Given the description of an element on the screen output the (x, y) to click on. 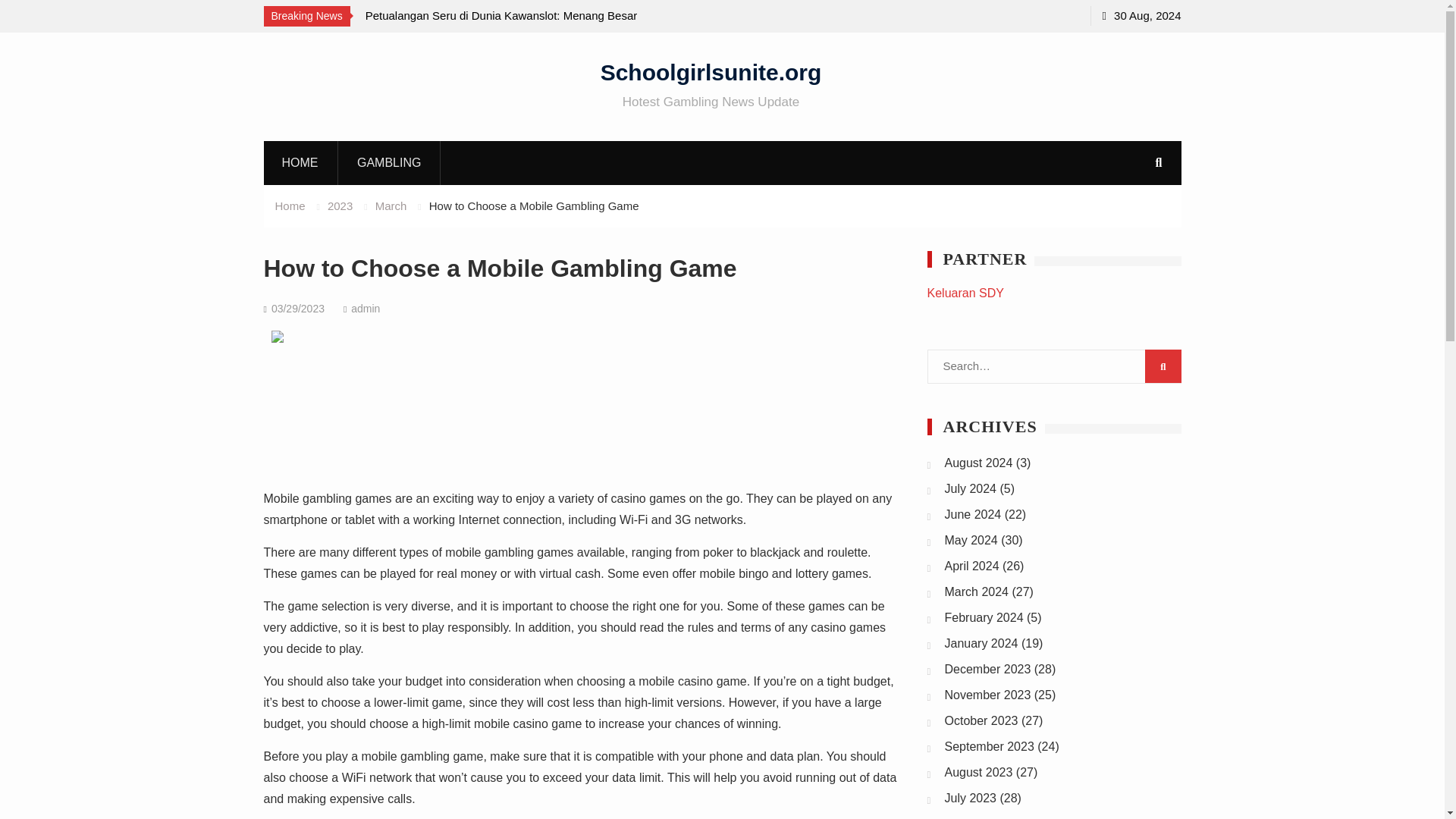
September 2023 (988, 746)
October 2023 (980, 720)
Home (289, 205)
April 2024 (971, 565)
HOME (299, 162)
August 2023 (978, 771)
July 2023 (970, 797)
November 2023 (987, 694)
June 2024 (972, 513)
GAMBLING (389, 162)
